Given the description of an element on the screen output the (x, y) to click on. 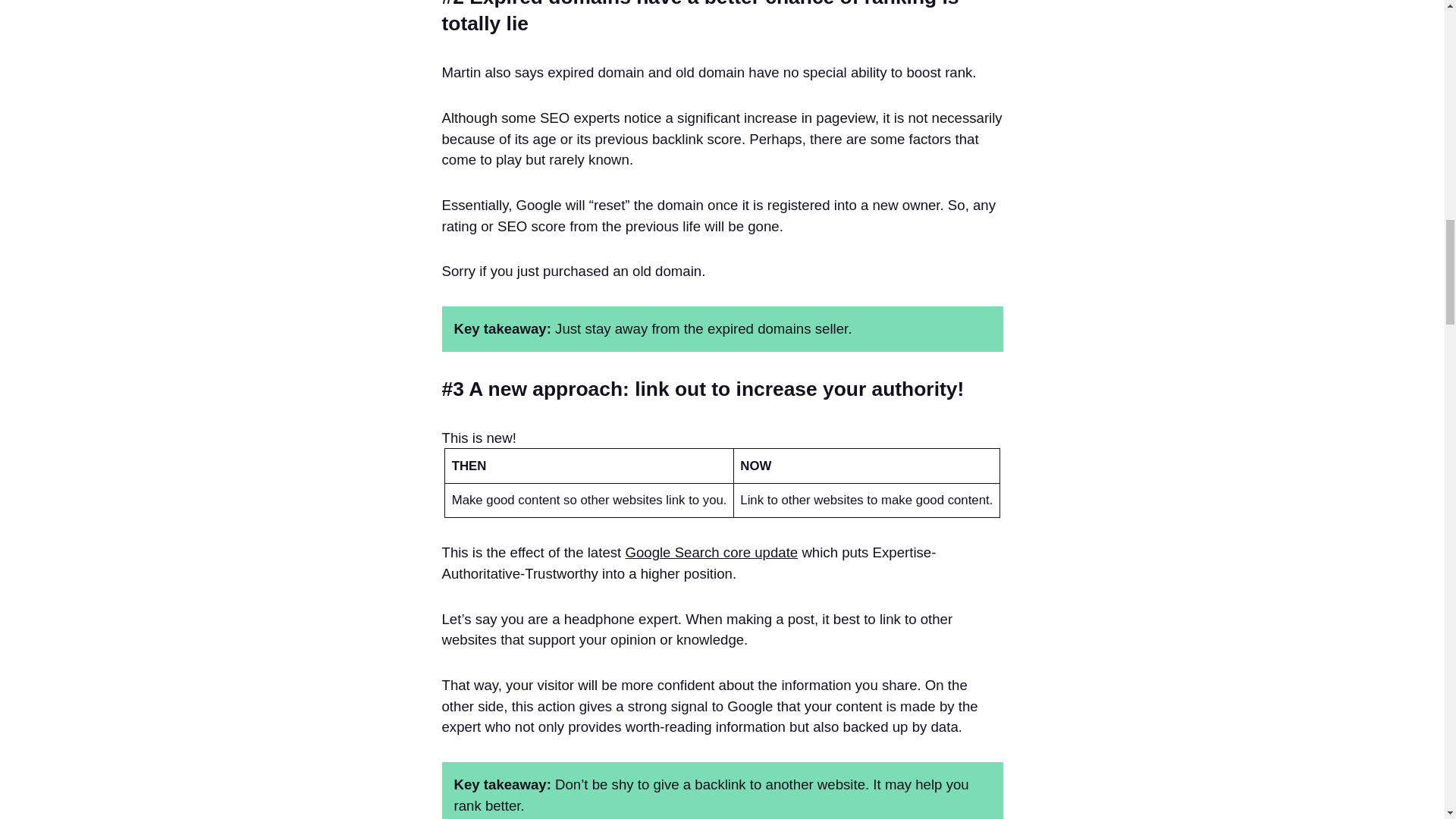
Google Search core update (710, 552)
